Given the description of an element on the screen output the (x, y) to click on. 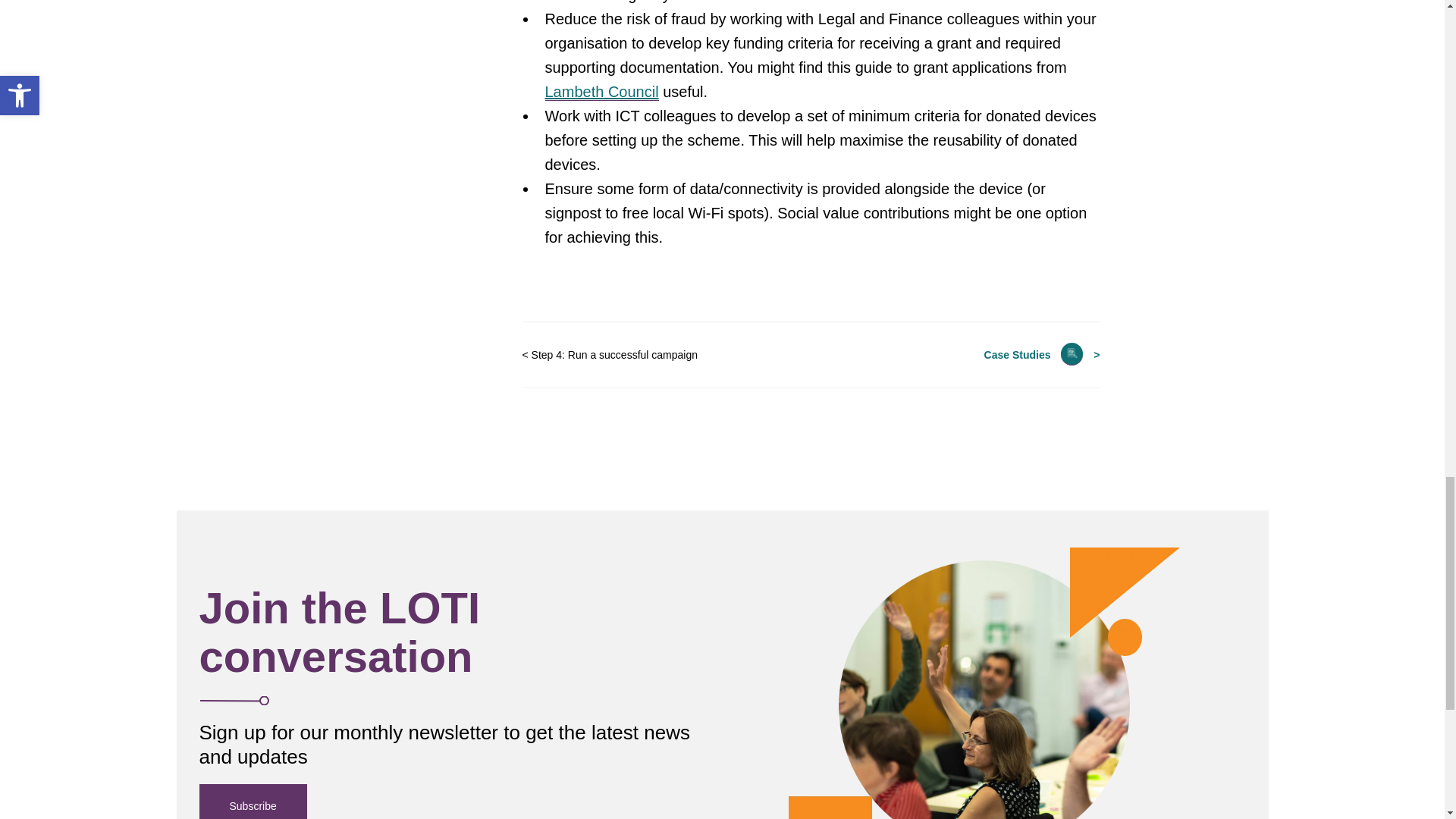
Lambeth Council (601, 91)
